Given the description of an element on the screen output the (x, y) to click on. 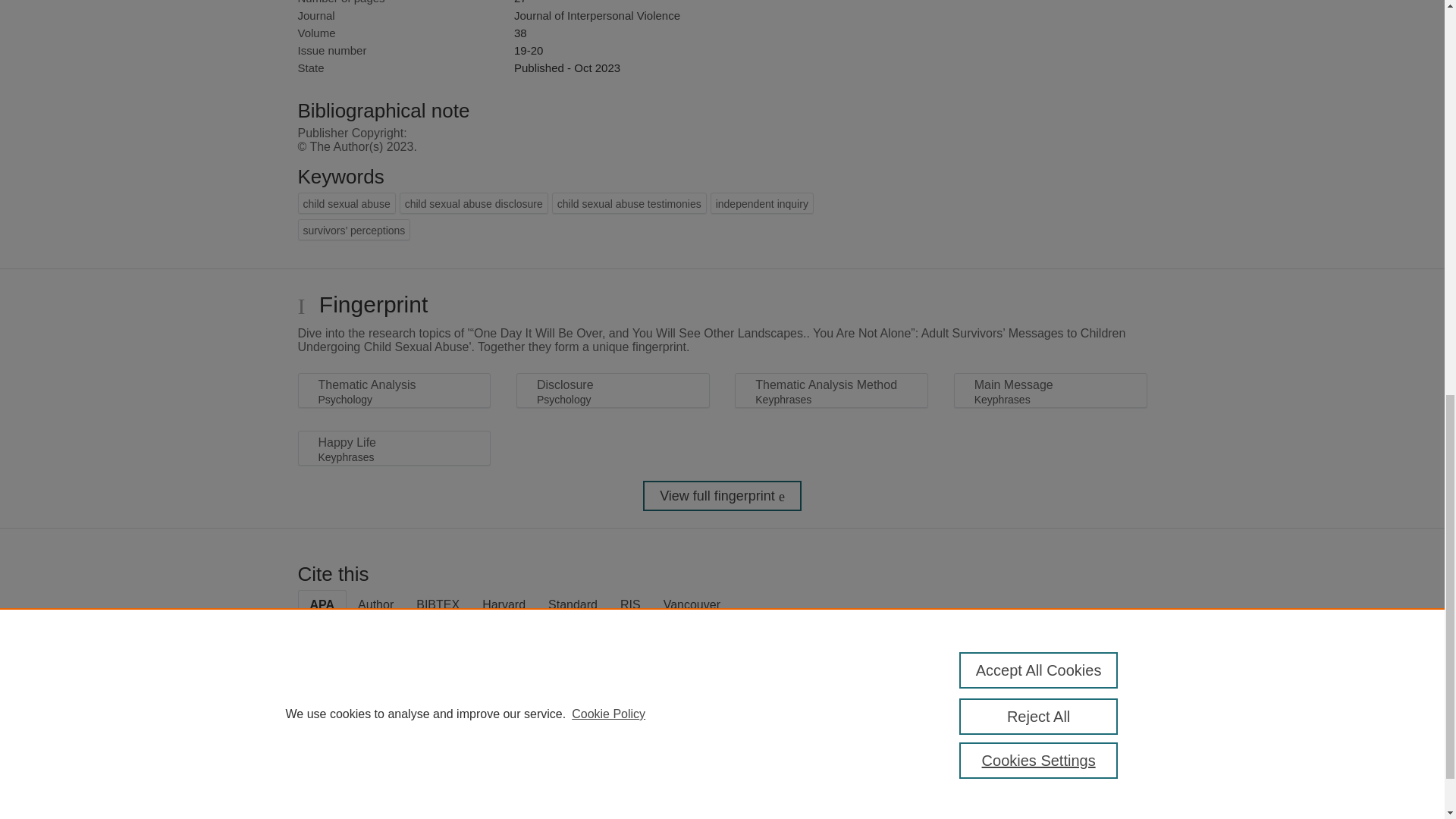
View full fingerprint (722, 495)
Scopus (394, 768)
Pure (362, 768)
Report vulnerability (1088, 806)
Elsevier B.V. (506, 789)
use of cookies (796, 817)
About web accessibility (1088, 774)
Journal of Interpersonal Violence (596, 15)
